Given the description of an element on the screen output the (x, y) to click on. 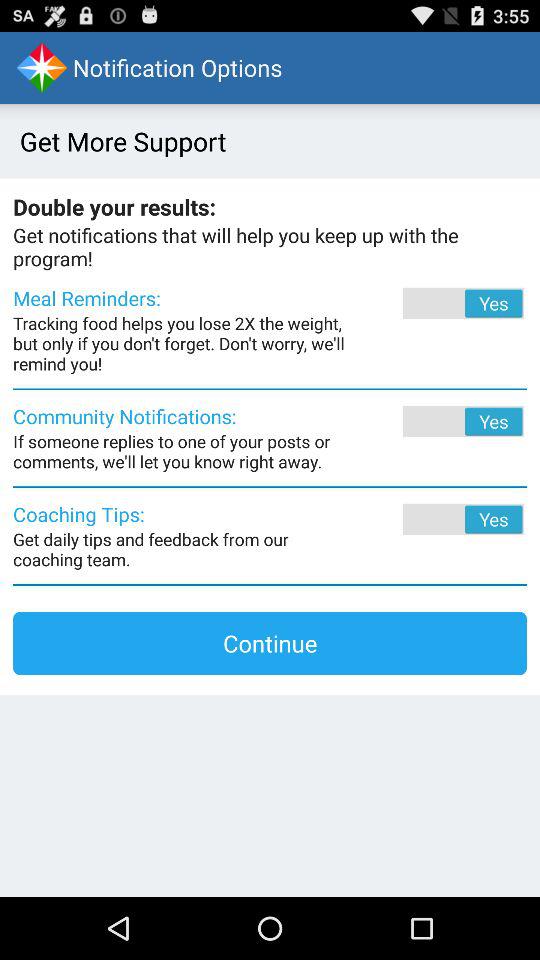
select your option (436, 519)
